Given the description of an element on the screen output the (x, y) to click on. 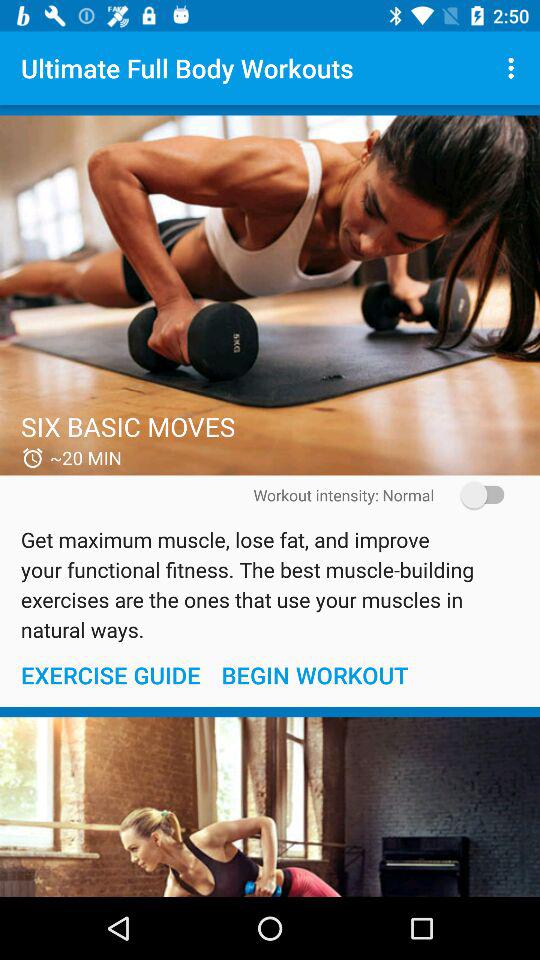
choose item to the right of the workout intensity: normal (476, 494)
